Given the description of an element on the screen output the (x, y) to click on. 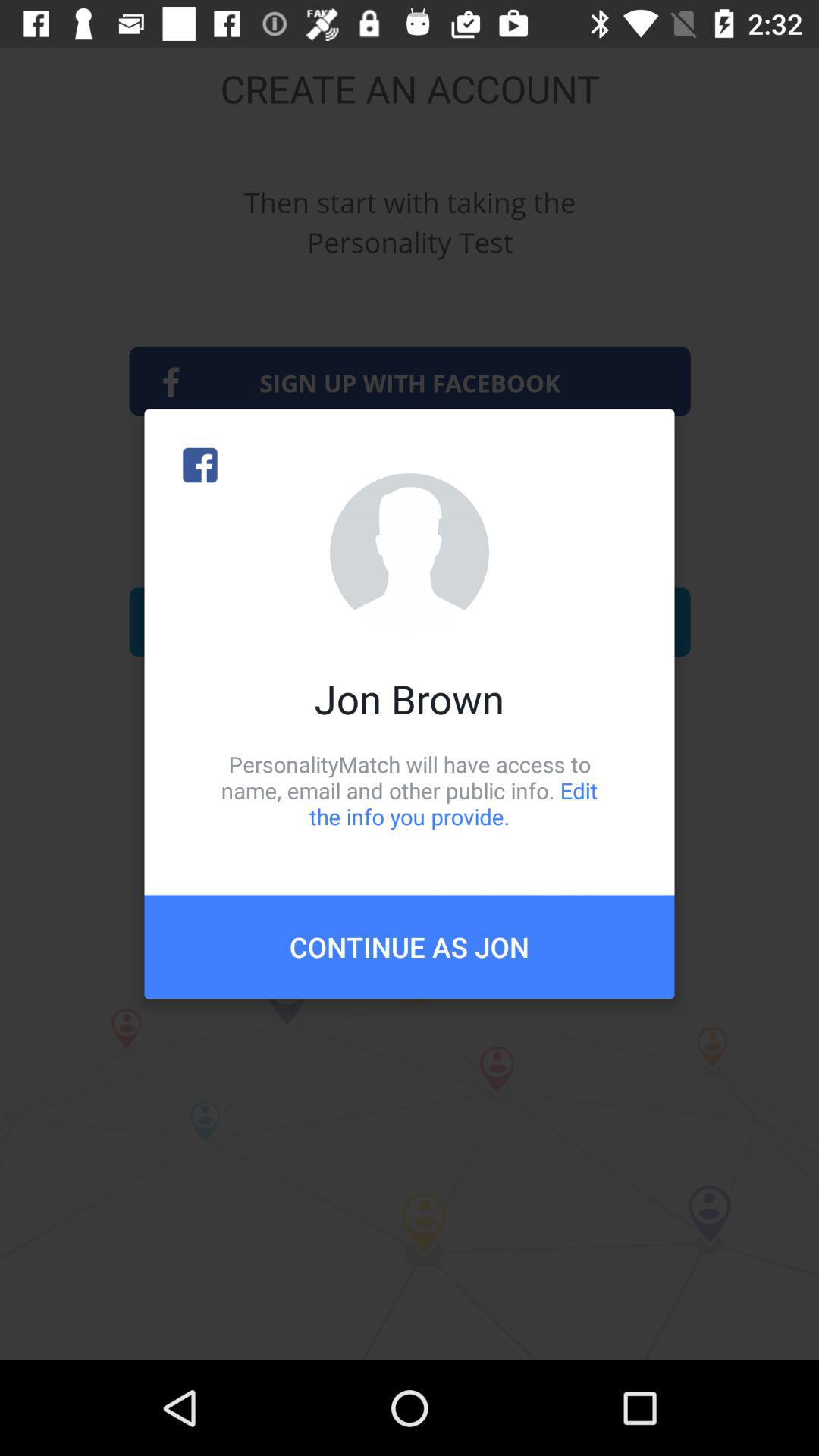
swipe to the continue as jon item (409, 946)
